Given the description of an element on the screen output the (x, y) to click on. 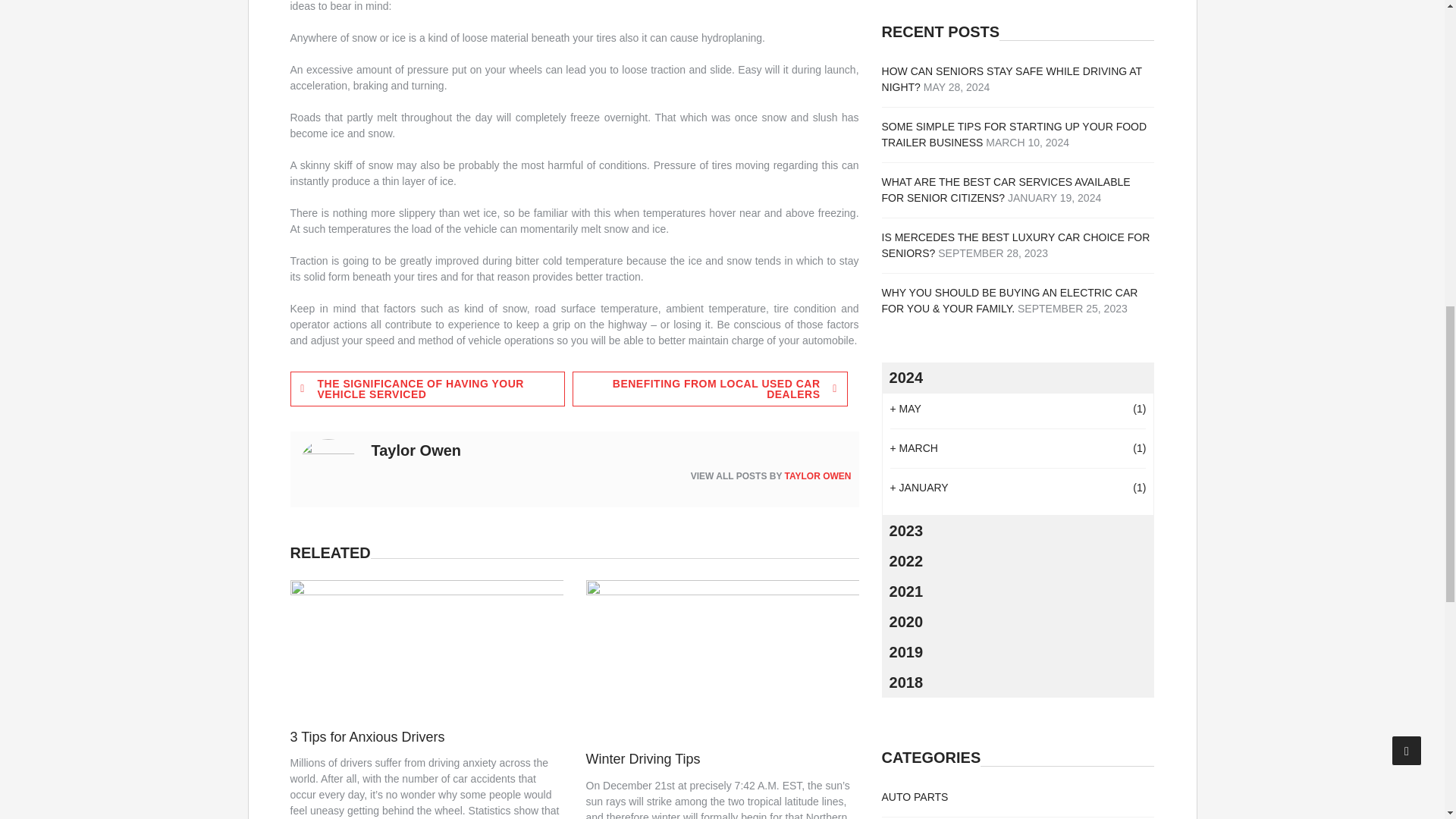
HOW CAN SENIORS STAY SAFE WHILE DRIVING AT NIGHT? (1011, 79)
THE SIGNIFICANCE OF HAVING YOUR VEHICLE SERVICED (426, 388)
Winter Driving Tips (643, 758)
3 Tips for Anxious Drivers (366, 736)
TAYLOR OWEN (817, 475)
SOME SIMPLE TIPS FOR STARTING UP YOUR FOOD TRAILER BUSINESS (1014, 134)
BENEFITING FROM LOCAL USED CAR DEALERS (709, 388)
